Given the description of an element on the screen output the (x, y) to click on. 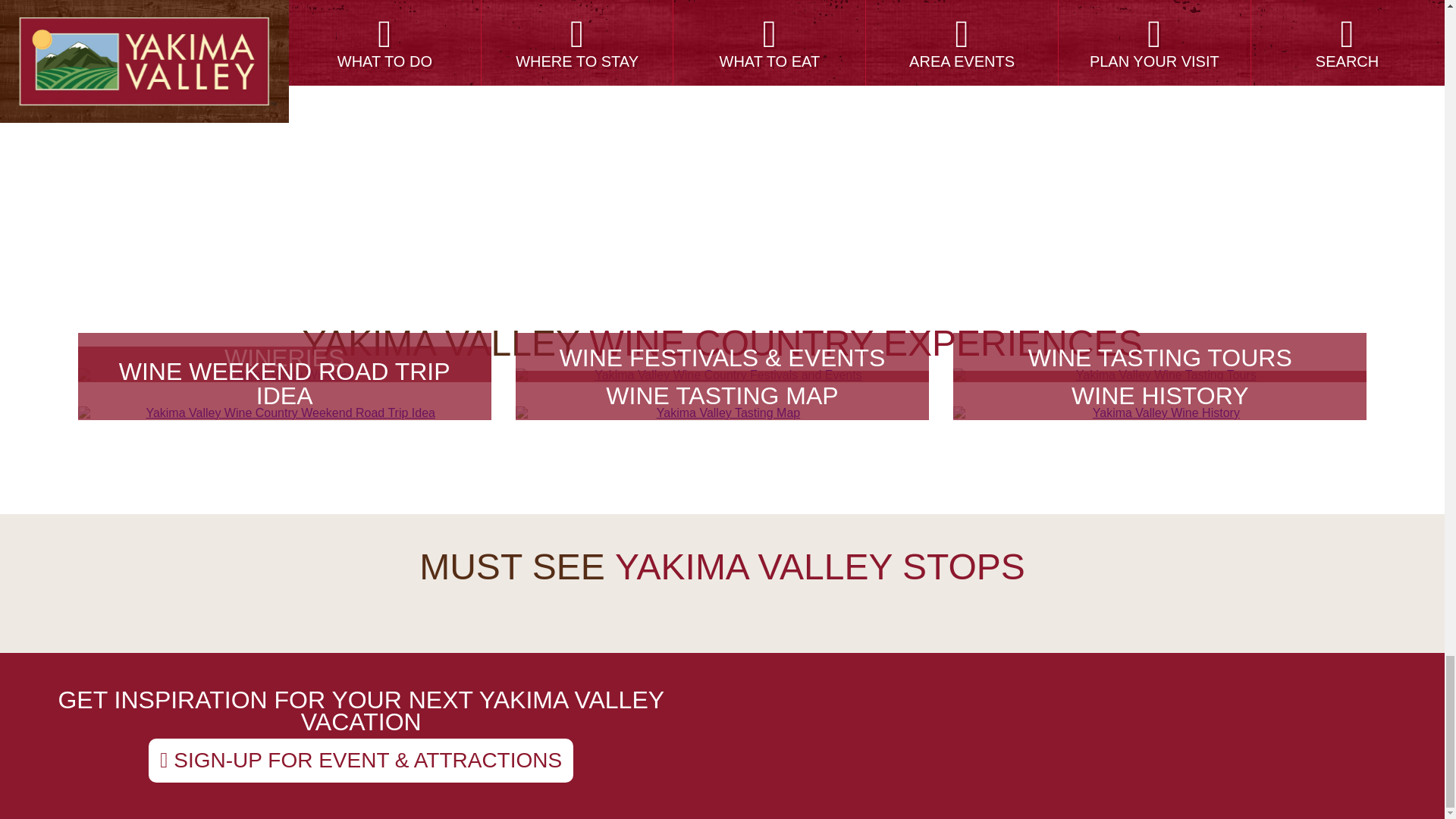
WINERIES (283, 375)
WINE TASTING TOURS (1160, 375)
WINE WEEKEND ROAD TRIP IDEA (283, 413)
